Given the description of an element on the screen output the (x, y) to click on. 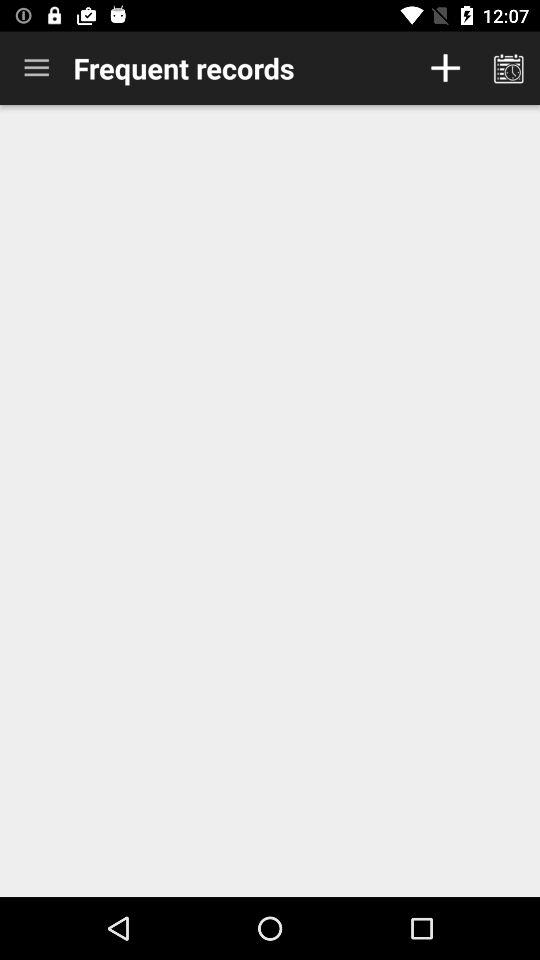
add recording (445, 67)
